Given the description of an element on the screen output the (x, y) to click on. 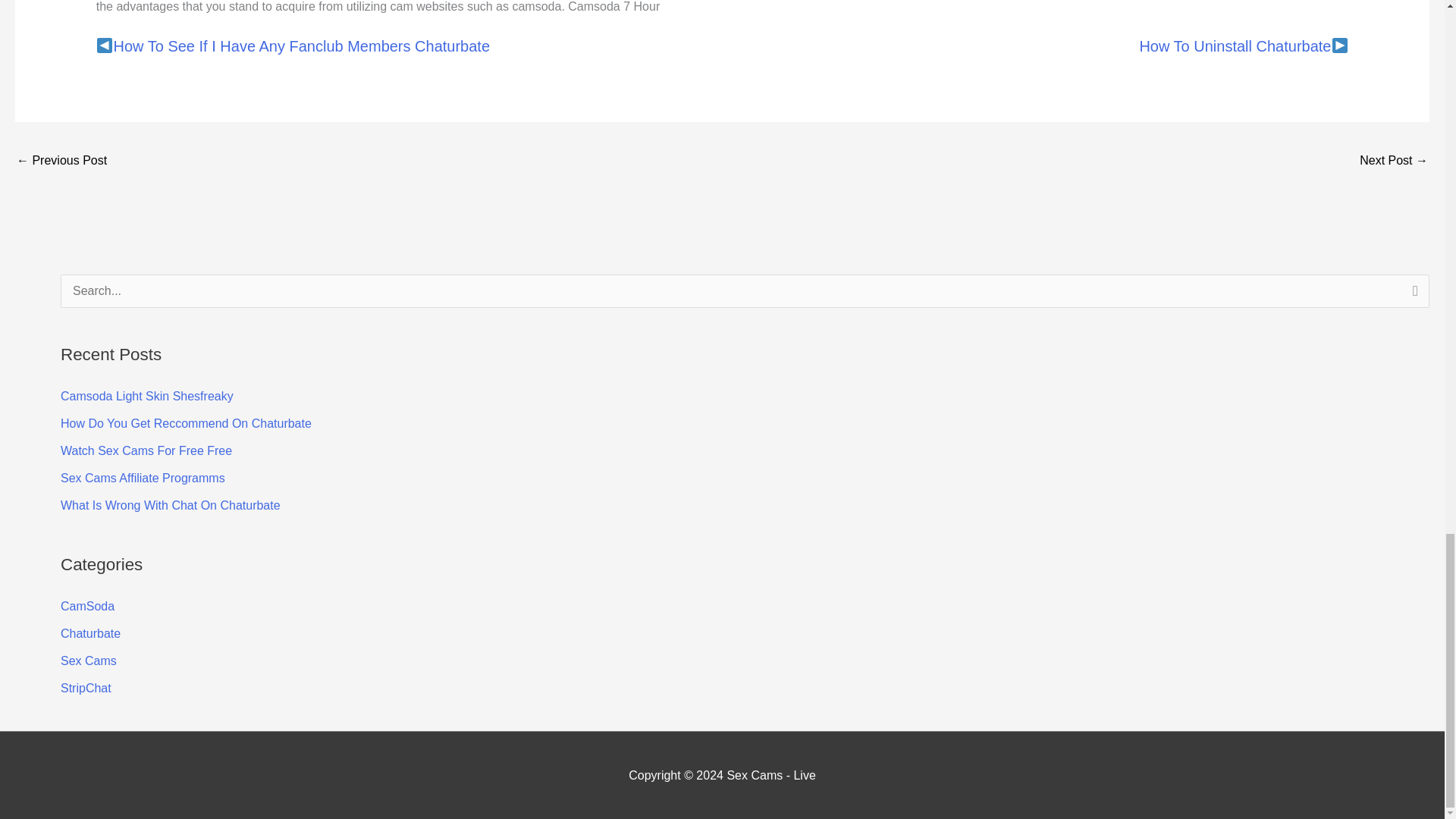
Chaturbate (90, 633)
Watch Sex Cams For Free Free (146, 450)
How To See If I Have Any Fanclub Members Chaturbate (61, 162)
How To Uninstall Chaturbate (1393, 162)
How To See If I Have Any Fanclub Members Chaturbate (301, 45)
Sex Cams (88, 660)
How To Uninstall Chaturbate (1234, 45)
How Do You Get Reccommend On Chaturbate (186, 422)
CamSoda (88, 605)
StripChat (86, 687)
How To See If I Have Any Fanclub Members Chaturbate (301, 45)
How To Uninstall Chaturbate (1234, 45)
Sex Cams Affiliate Programms (143, 477)
Camsoda Light Skin Shesfreaky (146, 395)
What Is Wrong With Chat On Chaturbate (171, 504)
